Given the description of an element on the screen output the (x, y) to click on. 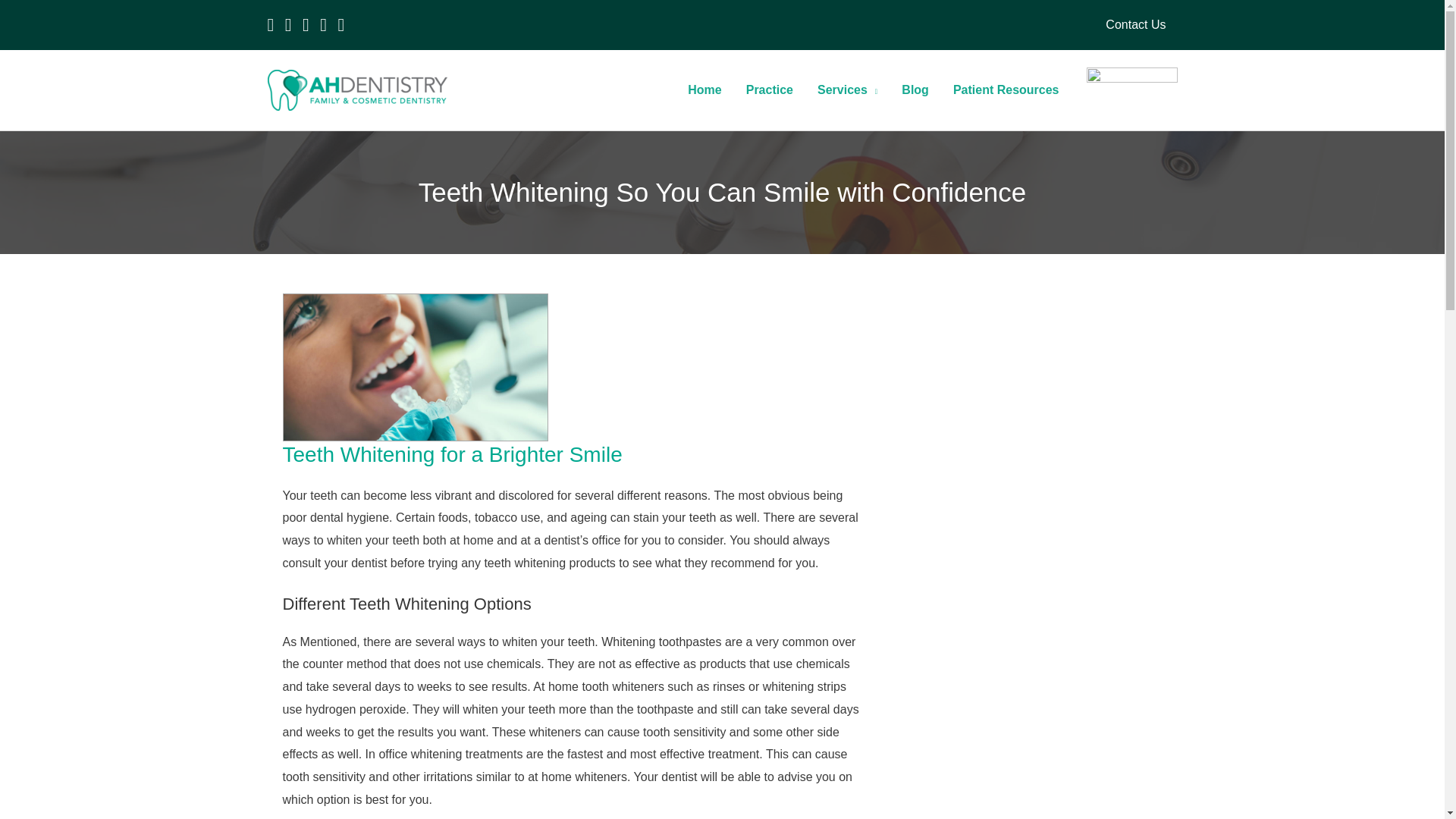
Contact Us (1135, 24)
Home (704, 90)
Practice (769, 90)
Services (847, 90)
